Given the description of an element on the screen output the (x, y) to click on. 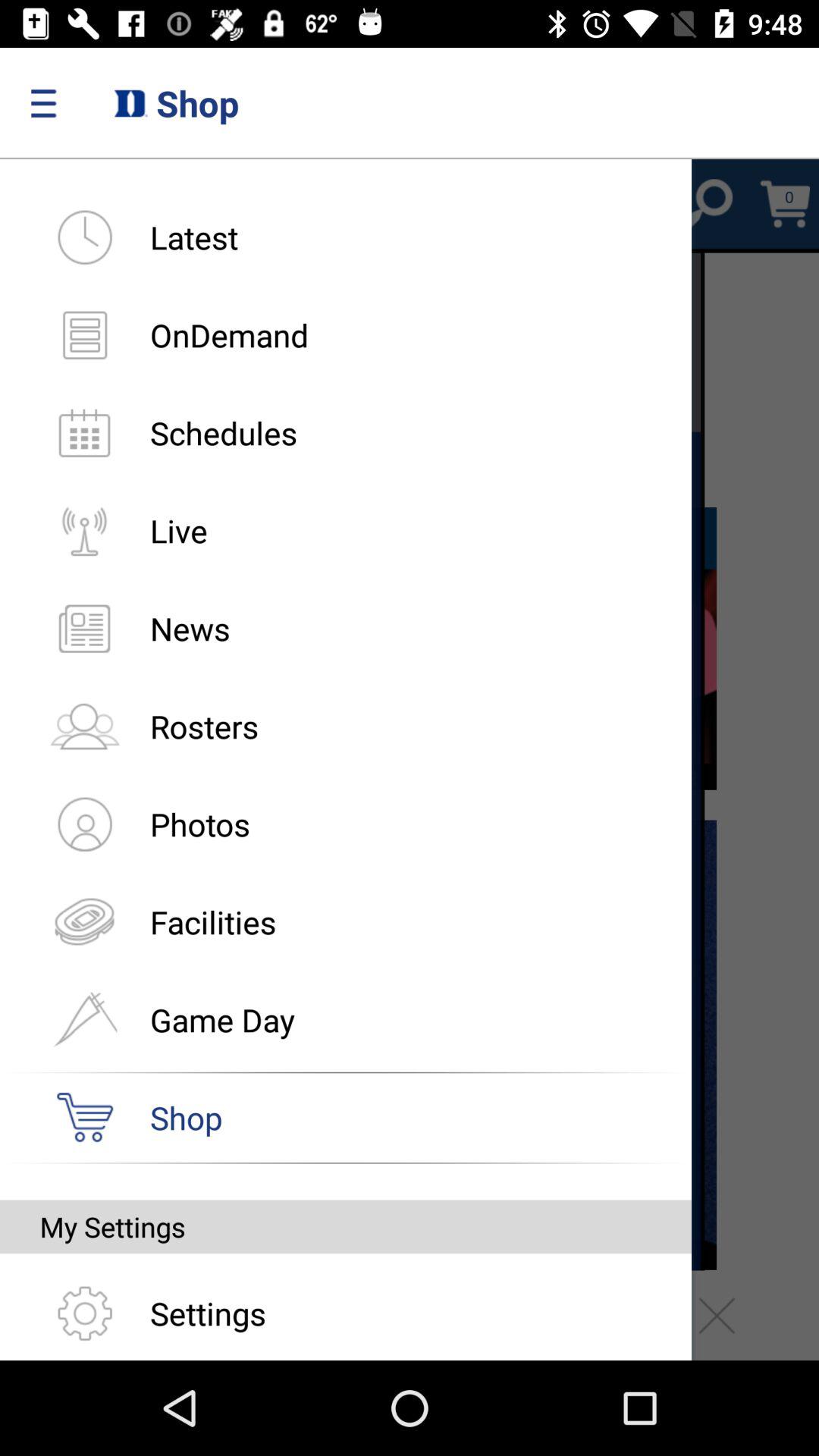
click on the icon which is to the left of shop (84, 1118)
